Given the description of an element on the screen output the (x, y) to click on. 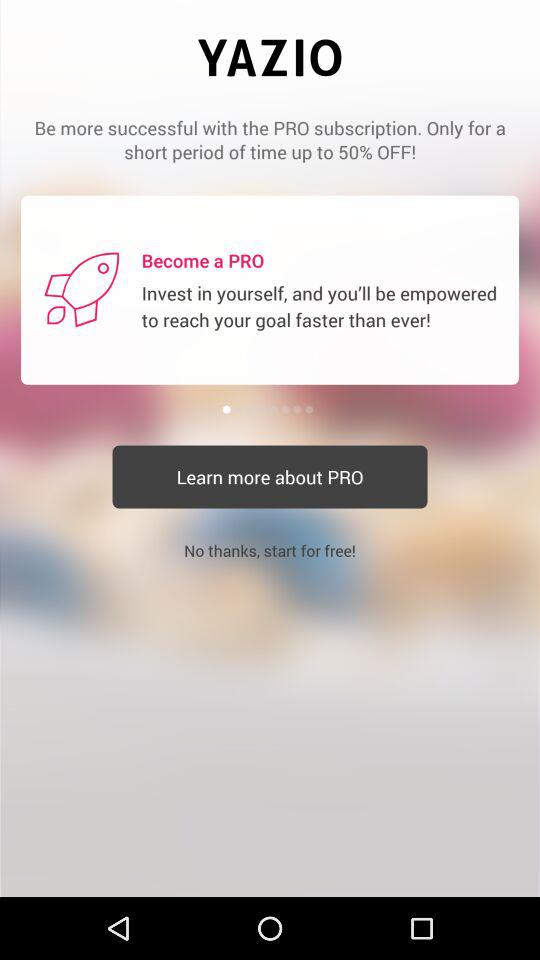
swipe to learn more about icon (269, 476)
